Given the description of an element on the screen output the (x, y) to click on. 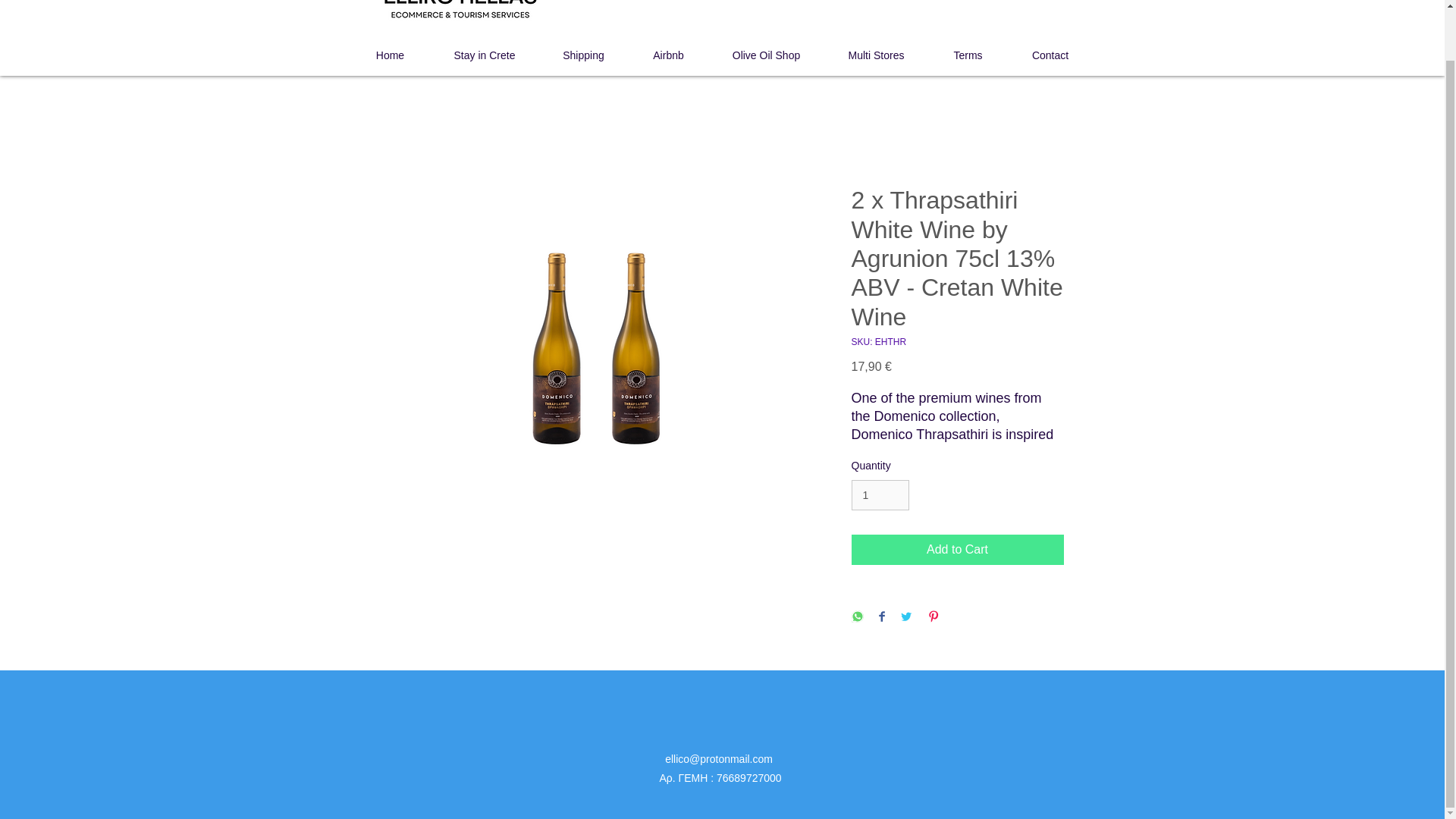
Airbnb (668, 55)
Home (389, 55)
1 (879, 495)
Add to Cart (956, 549)
Shipping (583, 55)
Olive Oil Shop (767, 55)
Multi Stores (877, 55)
Terms (968, 55)
Stay in Crete (483, 55)
